Given the description of an element on the screen output the (x, y) to click on. 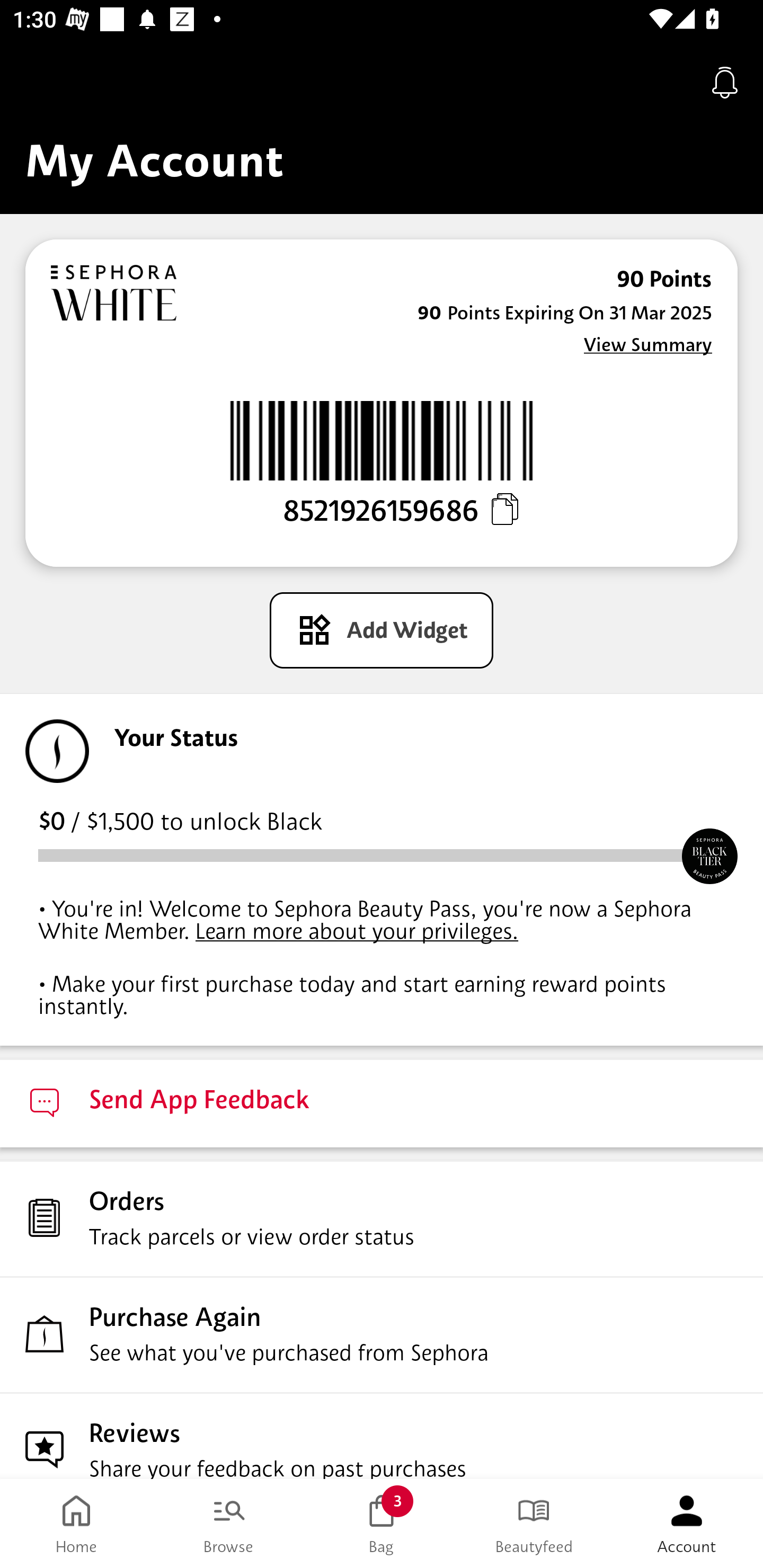
Notifications (724, 81)
View Summary (647, 343)
Add Widget (381, 629)
Send App Feedback (381, 1102)
Orders Track parcels or view order status (381, 1218)
Reviews Share your feedback on past purchases (381, 1435)
Home (76, 1523)
Browse (228, 1523)
Bag 3 Bag (381, 1523)
Beautyfeed (533, 1523)
